Given the description of an element on the screen output the (x, y) to click on. 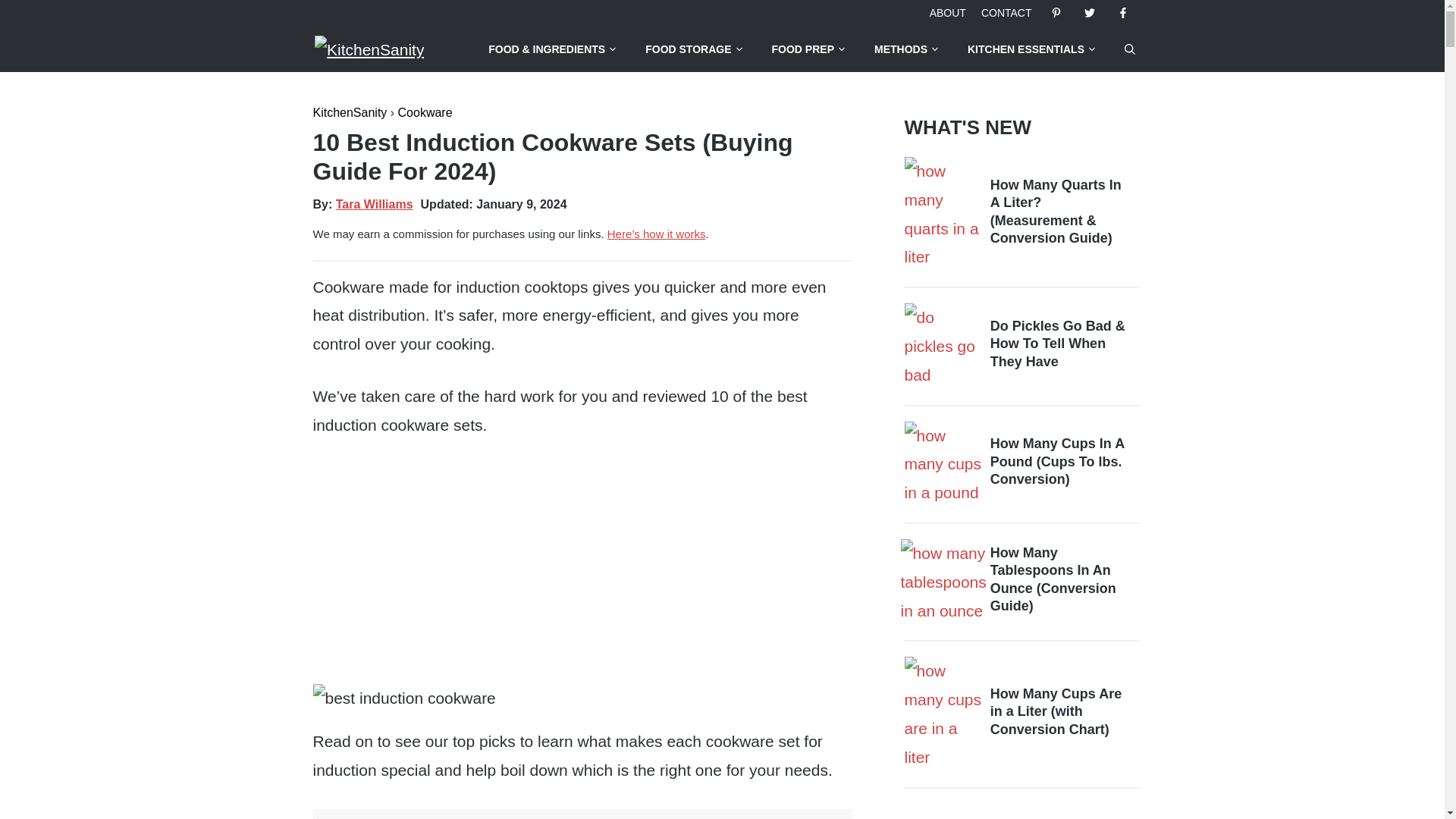
KITCHEN ESSENTIALS (1031, 49)
CONTACT (1006, 12)
FOOD STORAGE (694, 49)
METHODS (906, 49)
FOOD PREP (809, 49)
ABOUT (948, 12)
